Given the description of an element on the screen output the (x, y) to click on. 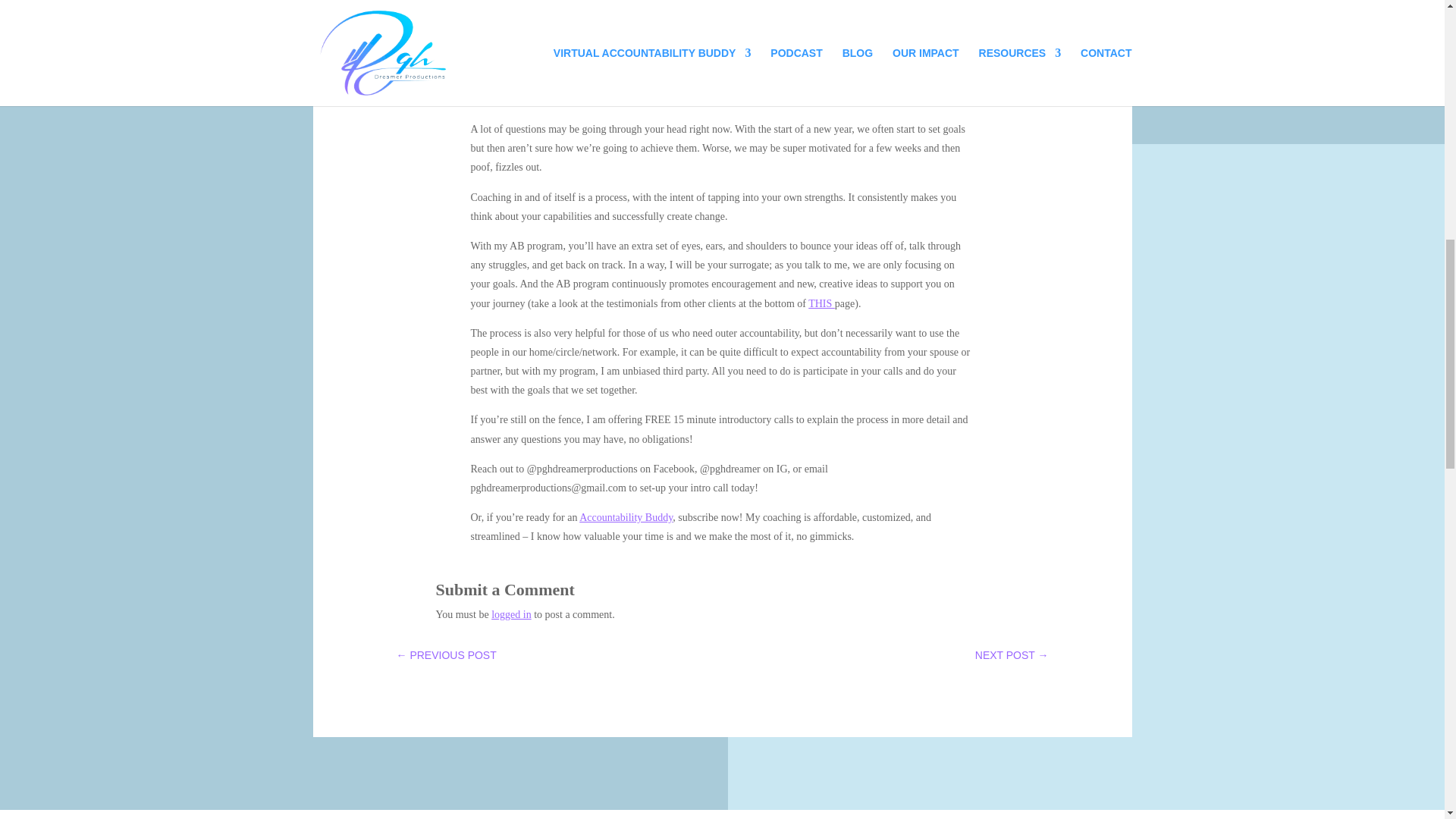
logged in (511, 614)
THIS (821, 303)
Accountability Buddy (625, 517)
